Given the description of an element on the screen output the (x, y) to click on. 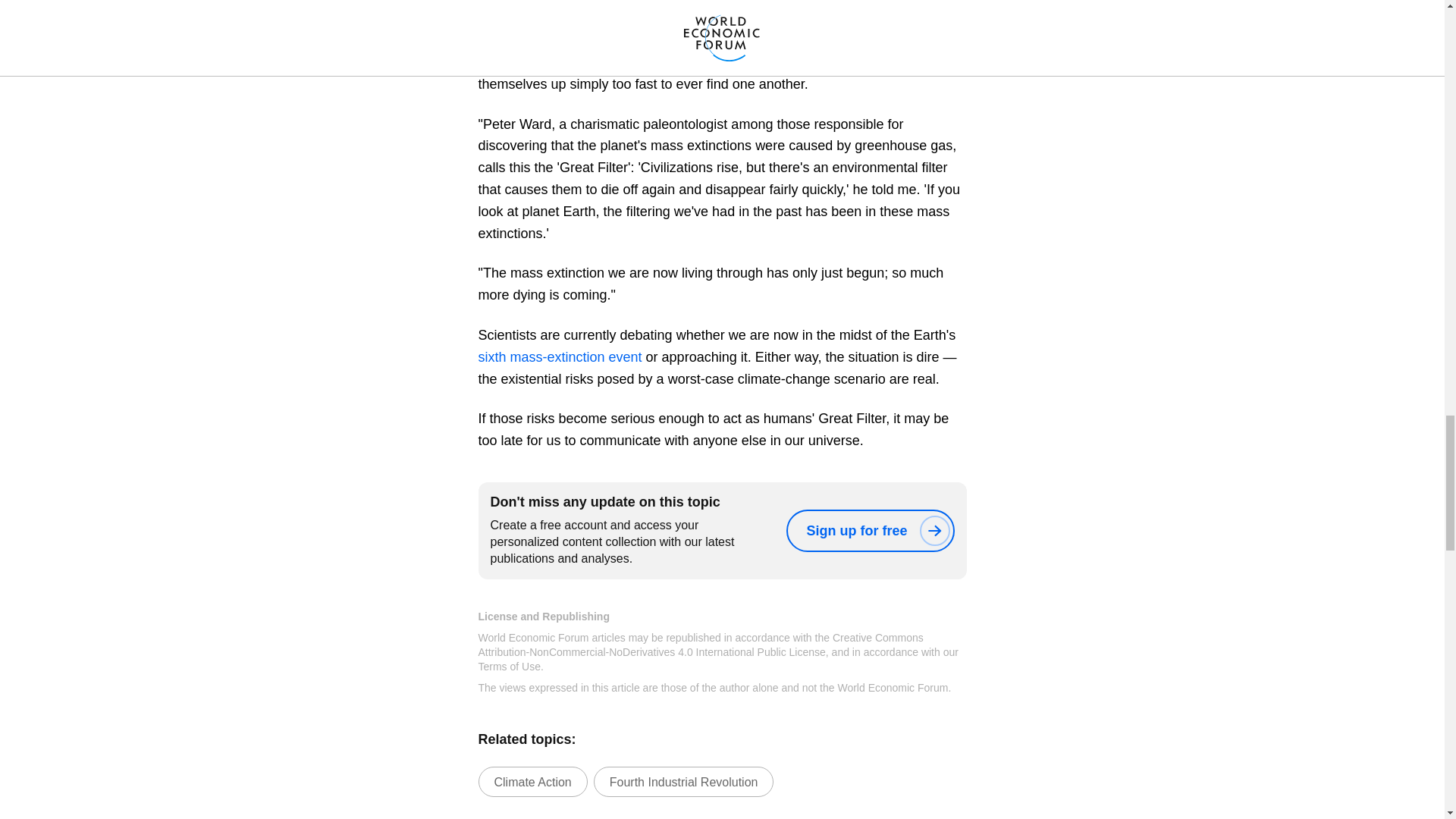
Fourth Industrial Revolution (684, 781)
Sign up for free (869, 530)
sixth mass-extinction event (559, 356)
Climate Action (531, 781)
recent feature (519, 3)
